Given the description of an element on the screen output the (x, y) to click on. 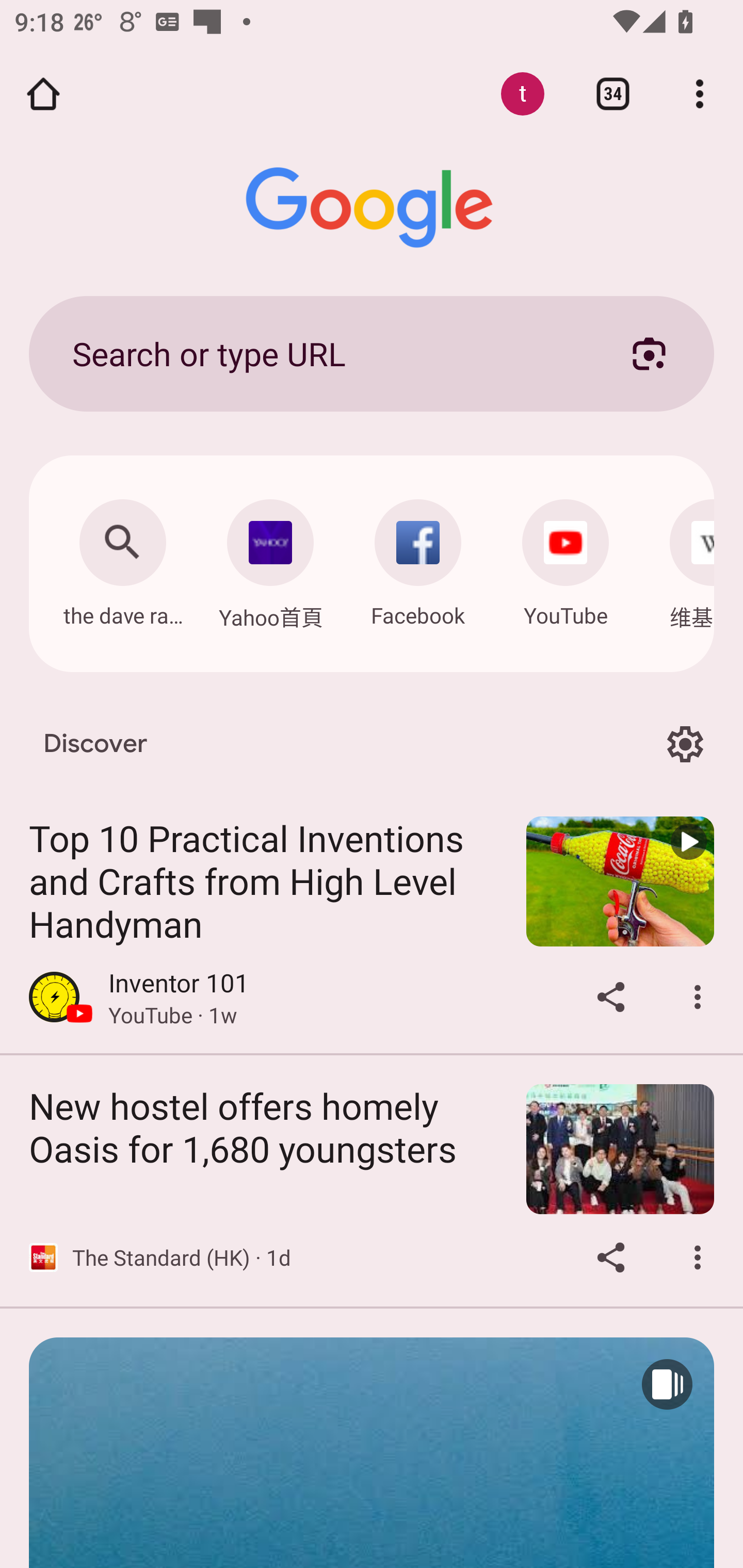
Open the home page (43, 93)
Switch or close tabs (612, 93)
Customize and control Google Chrome (699, 93)
Search or type URL (327, 353)
Search with your camera using Google Lens (648, 353)
Search: the dave ramsey show the dave ramsey show (122, 558)
Navigate: Yahoo首頁: hk.mobi.yahoo.com Yahoo首頁 (270, 558)
Navigate: Facebook: m.facebook.com Facebook (417, 558)
Navigate: YouTube: m.youtube.com YouTube (565, 558)
Options for Discover (684, 743)
